Given the description of an element on the screen output the (x, y) to click on. 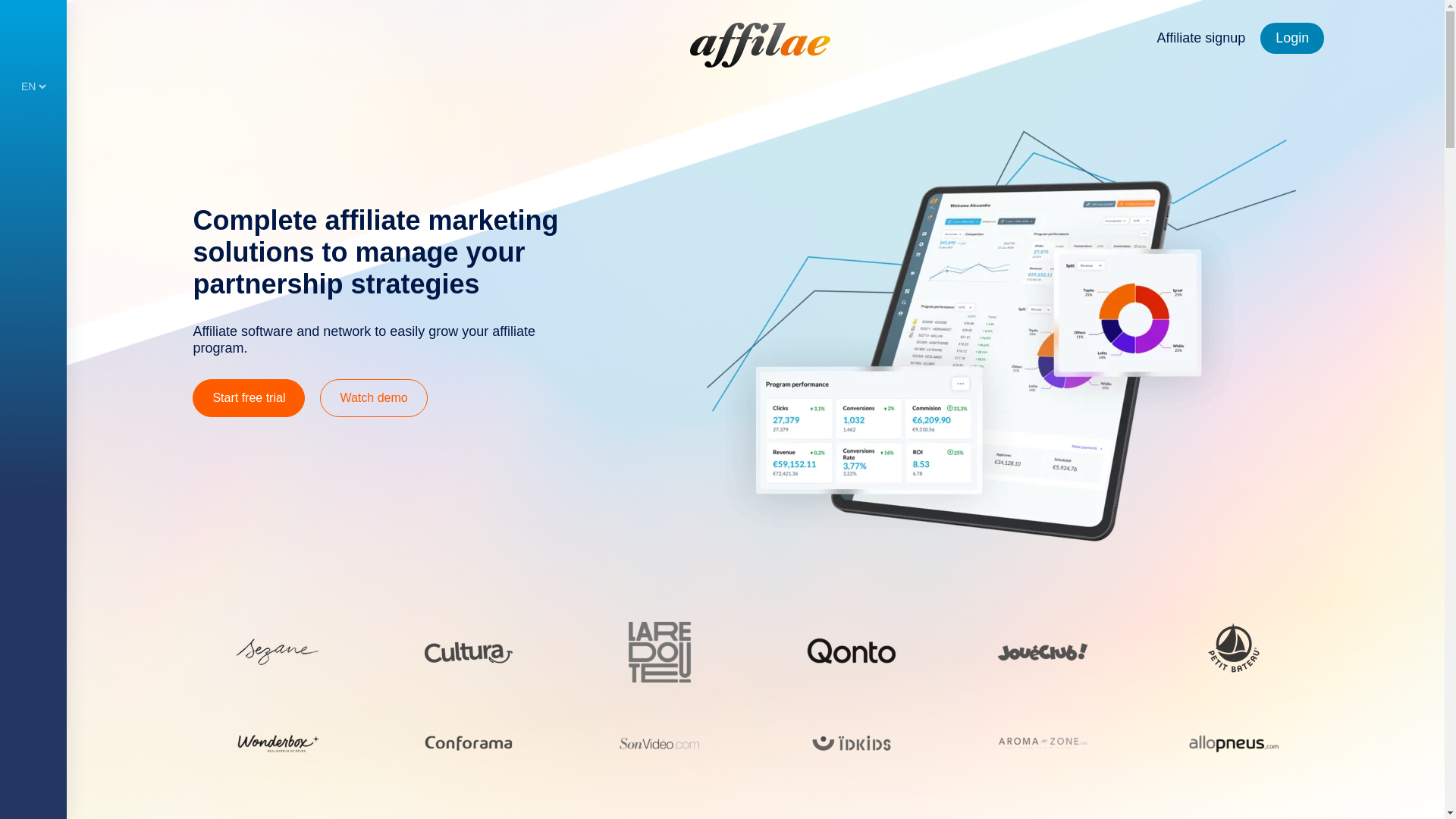
Login (1291, 38)
Affiliate signup (1200, 37)
Watch demo (373, 397)
Start free trial (248, 397)
